Given the description of an element on the screen output the (x, y) to click on. 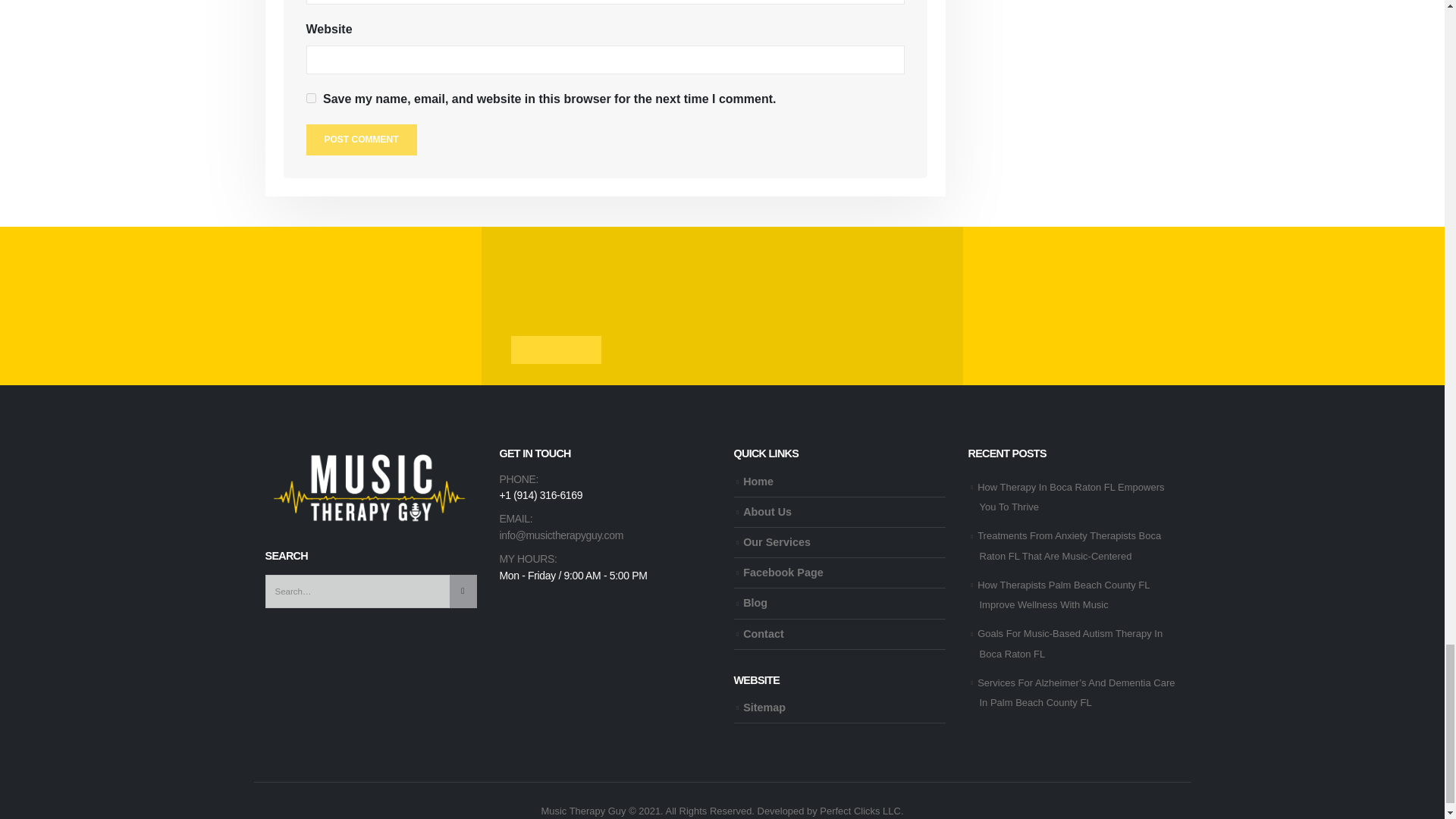
Post Comment (360, 139)
yes (310, 98)
Post Comment (360, 139)
